Given the description of an element on the screen output the (x, y) to click on. 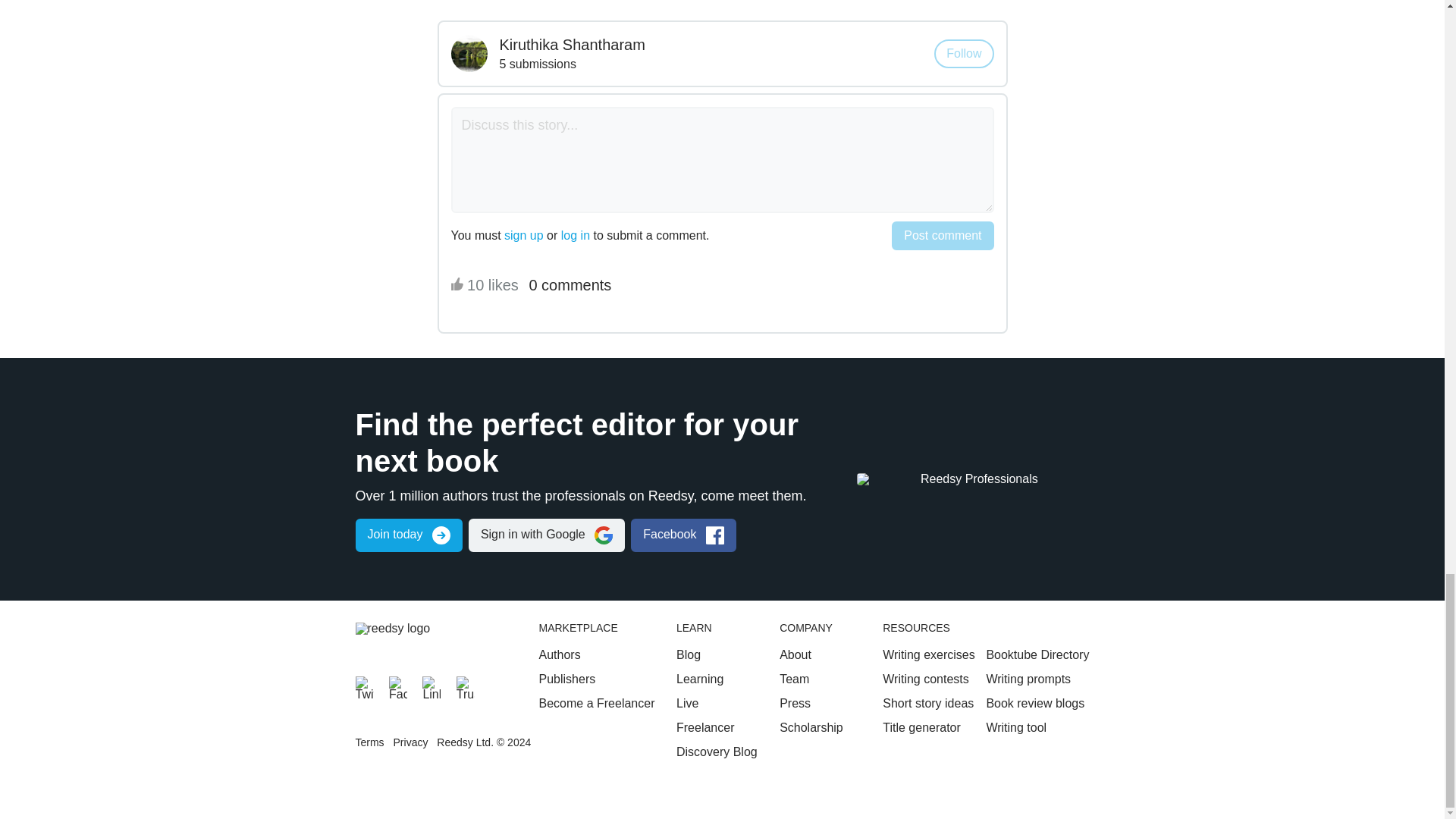
Sign up (408, 535)
Post comment (941, 235)
Facebook (397, 685)
Sign in with Facebook (683, 535)
LinkedIn (431, 685)
Twitter (363, 685)
Sign in with Google (546, 535)
Trustpilot (465, 685)
